Given the description of an element on the screen output the (x, y) to click on. 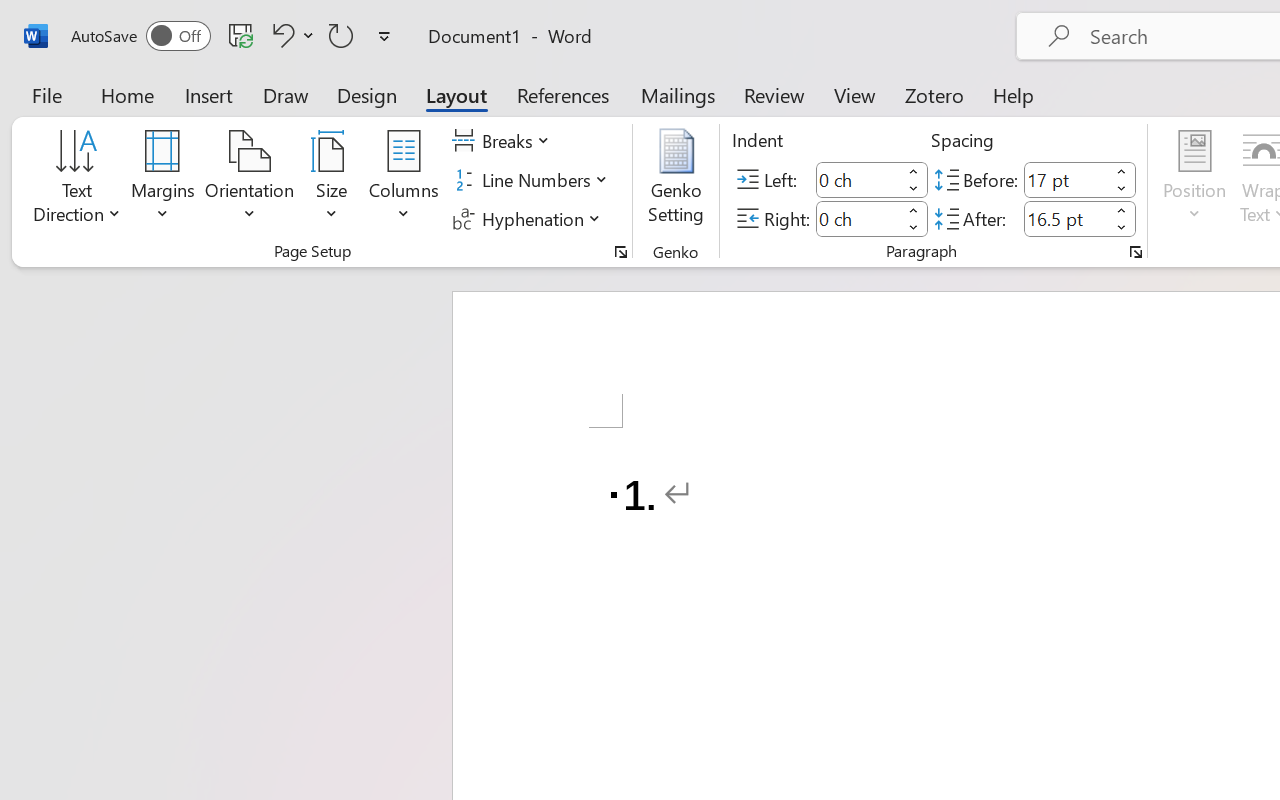
Line Numbers (532, 179)
Spacing Before (1066, 179)
Indent Right (858, 218)
Orientation (250, 179)
Page Setup... (621, 252)
Breaks (504, 141)
Repeat Doc Close (341, 35)
